Given the description of an element on the screen output the (x, y) to click on. 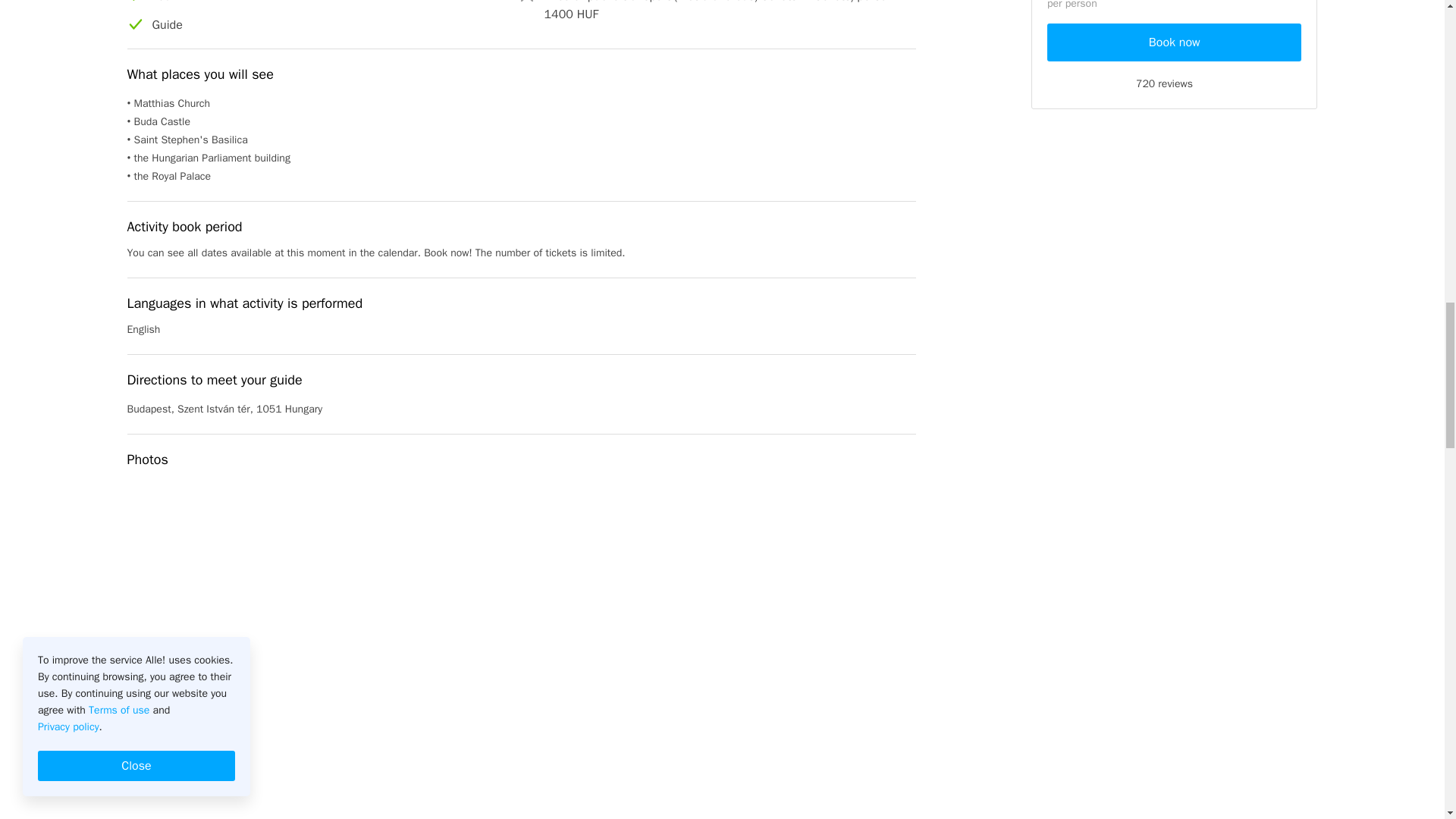
Book now (1173, 42)
3-Hour Orientation Walking Tour of Buda and Pest - photo 2 (521, 610)
3-Hour Orientation Walking Tour of Buda and Pest - photo 3 (789, 610)
3-Hour Orientation Walking Tour of Buda and Pest - photo 6 (789, 783)
3-Hour Orientation Walking Tour of Buda and Pest - photo 4 (253, 783)
3-Hour Orientation Walking Tour of Buda and Pest - photo 5 (521, 783)
720 reviews (1174, 83)
3-Hour Orientation Walking Tour of Buda and Pest - photo 1 (253, 610)
